Given the description of an element on the screen output the (x, y) to click on. 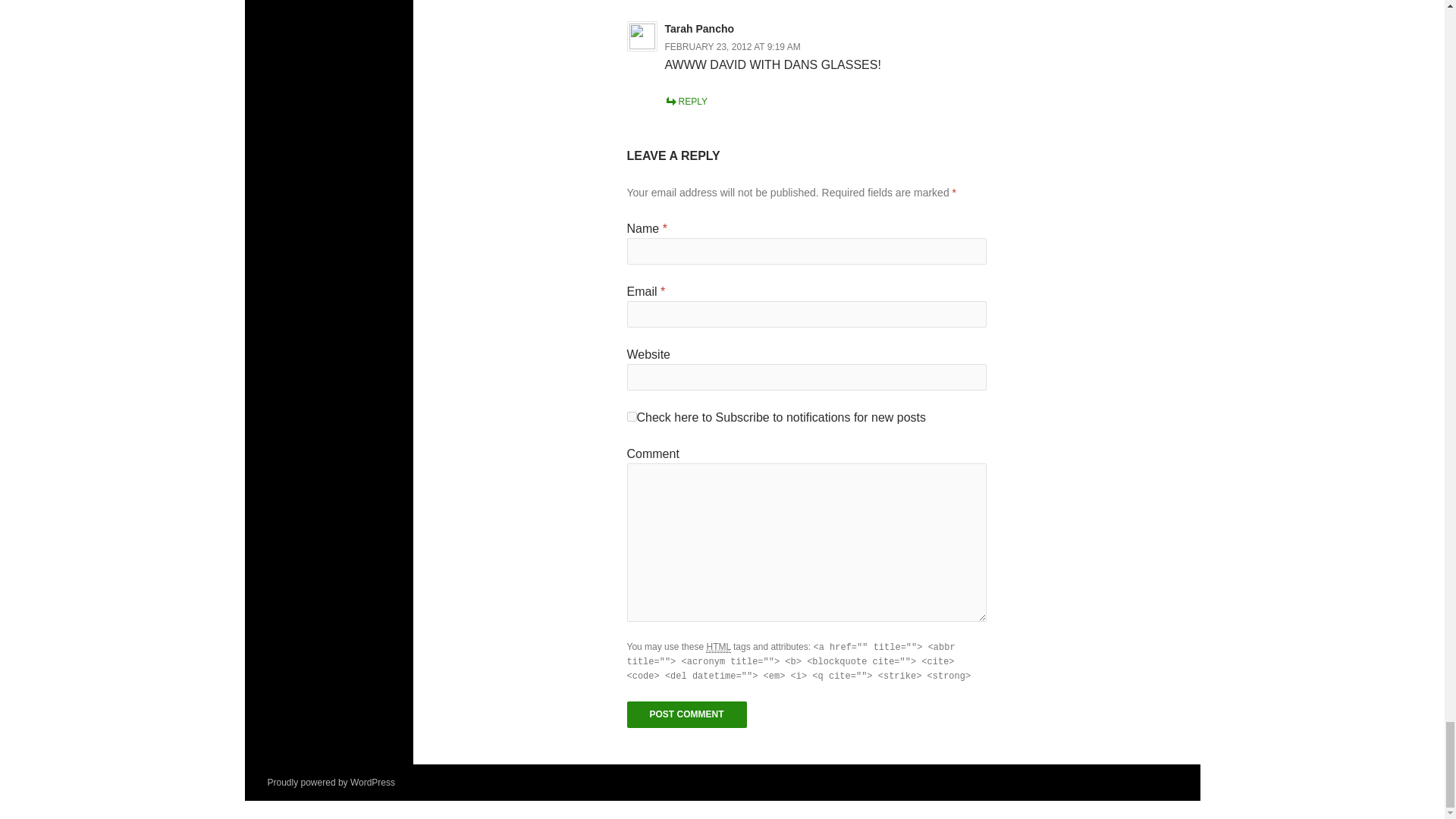
HyperText Markup Language (718, 645)
FEBRUARY 23, 2012 AT 9:19 AM (731, 46)
Post Comment (685, 714)
1 (631, 416)
REPLY (684, 101)
Tarah Pancho (698, 28)
Post Comment (685, 714)
